Given the description of an element on the screen output the (x, y) to click on. 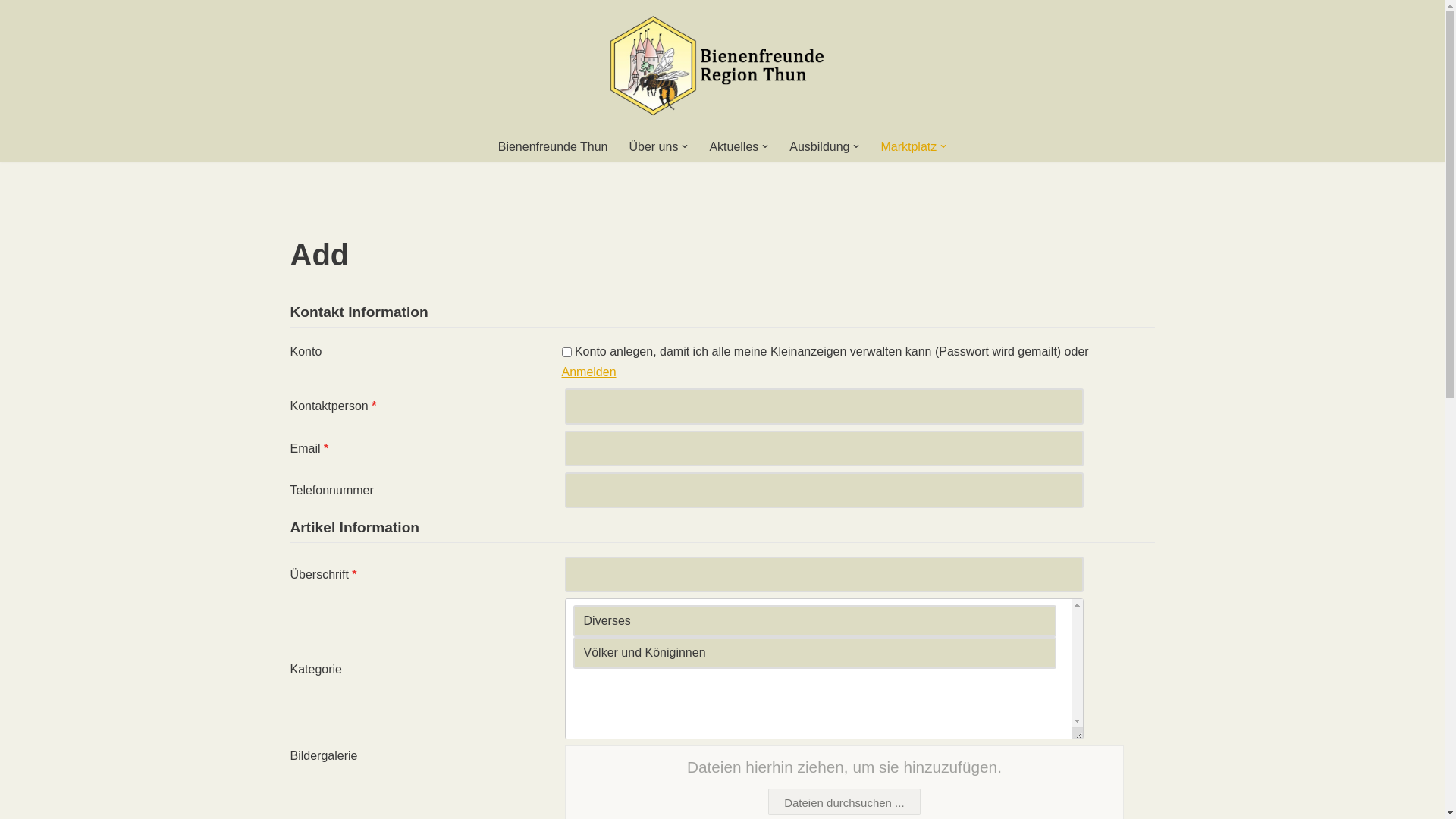
Marktplatz Element type: text (908, 146)
Aktuelles Element type: text (733, 146)
Zum Inhalt springen Element type: text (11, 31)
Bienenfreunde Thun Element type: text (553, 146)
Dateien durchsuchen ... Element type: text (843, 801)
Anmelden Element type: text (588, 371)
Ausbildung Element type: text (819, 146)
